Given the description of an element on the screen output the (x, y) to click on. 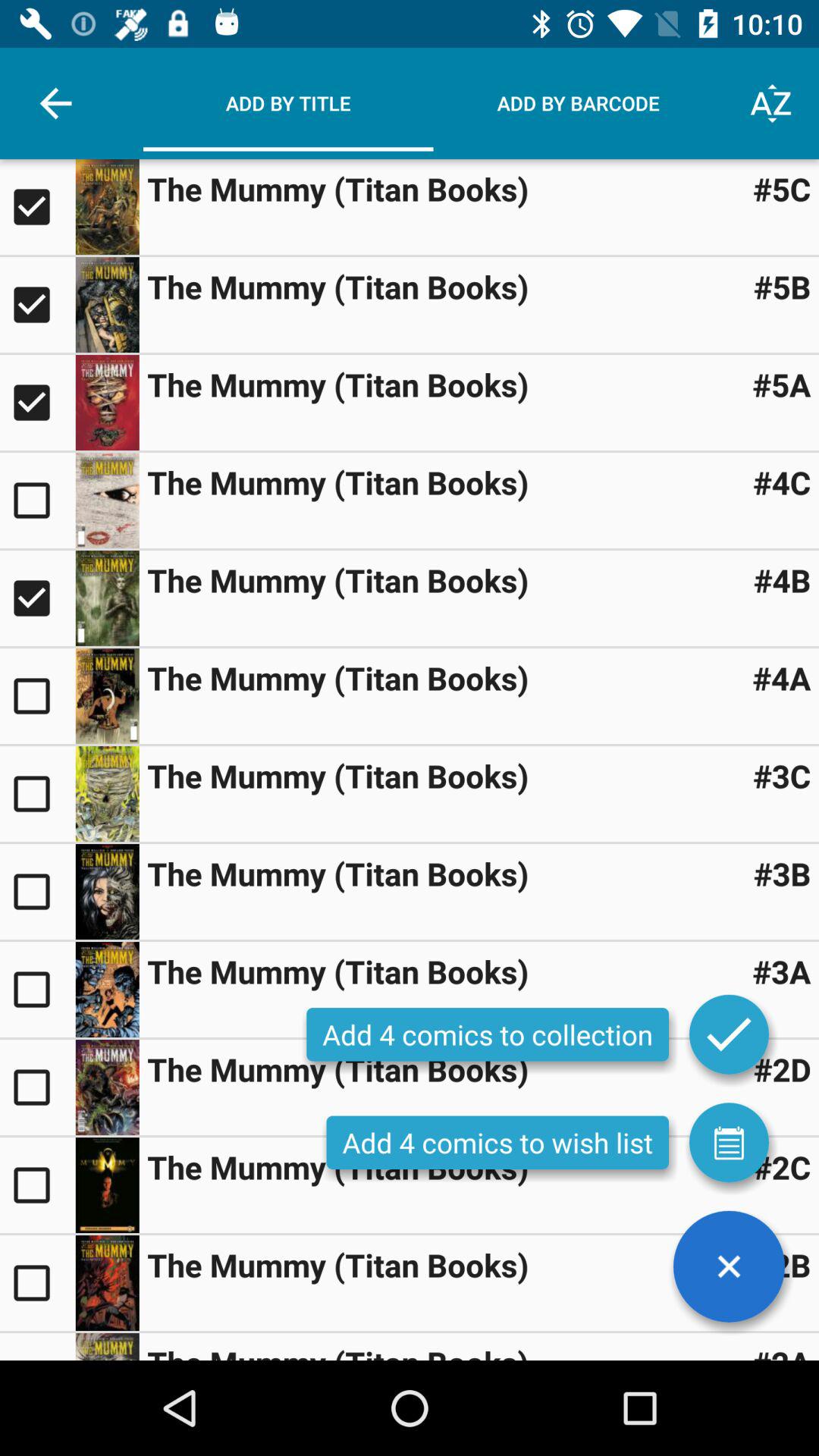
select a comic (37, 989)
